Given the description of an element on the screen output the (x, y) to click on. 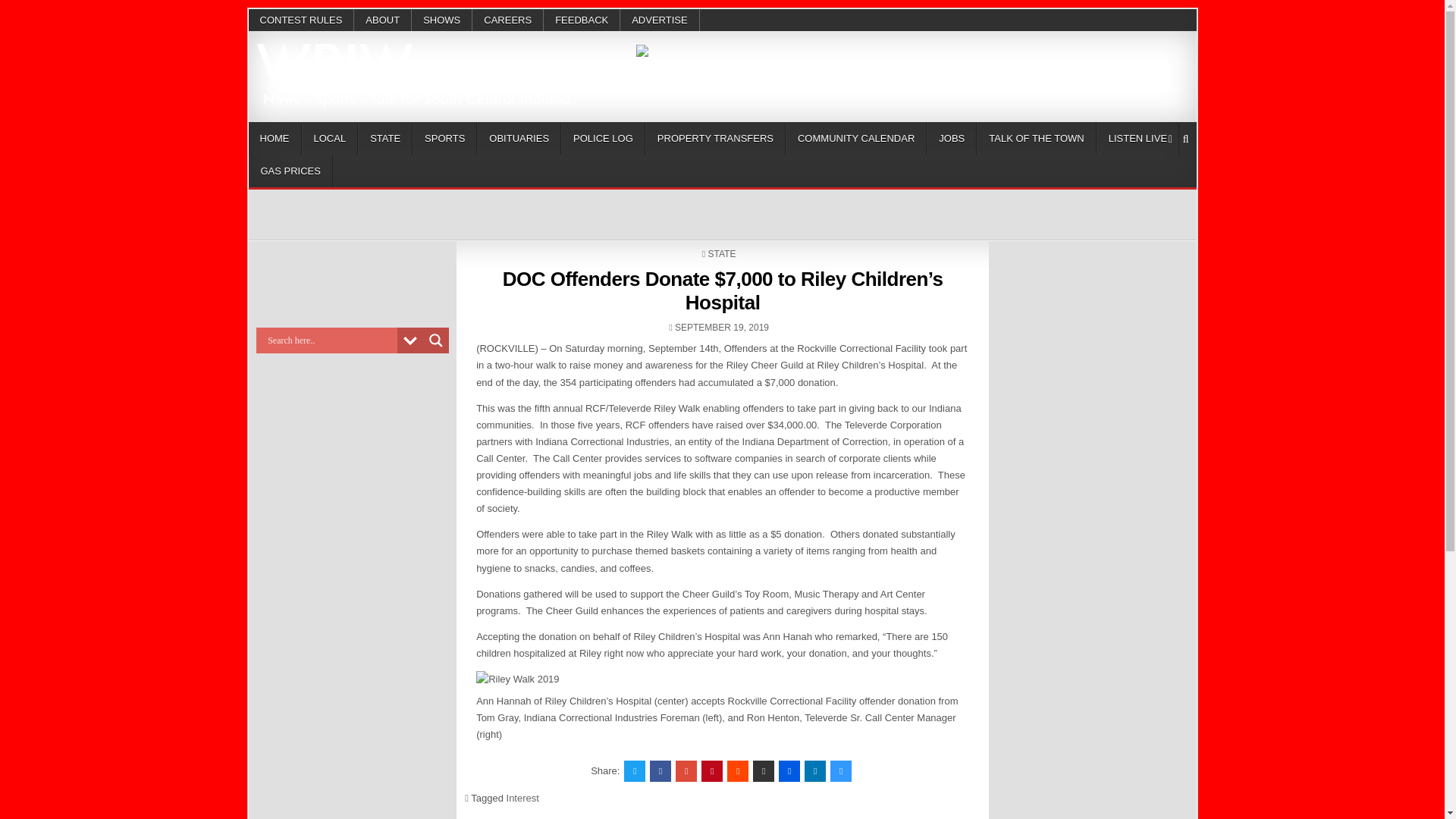
CONTEST RULES (301, 20)
ABOUT (382, 20)
SHOWS (441, 20)
STATE (385, 138)
CAREERS (507, 20)
HOME (274, 138)
FEEDBACK (581, 20)
SPORTS (444, 138)
LOCAL (329, 138)
ADVERTISE (659, 20)
